Given the description of an element on the screen output the (x, y) to click on. 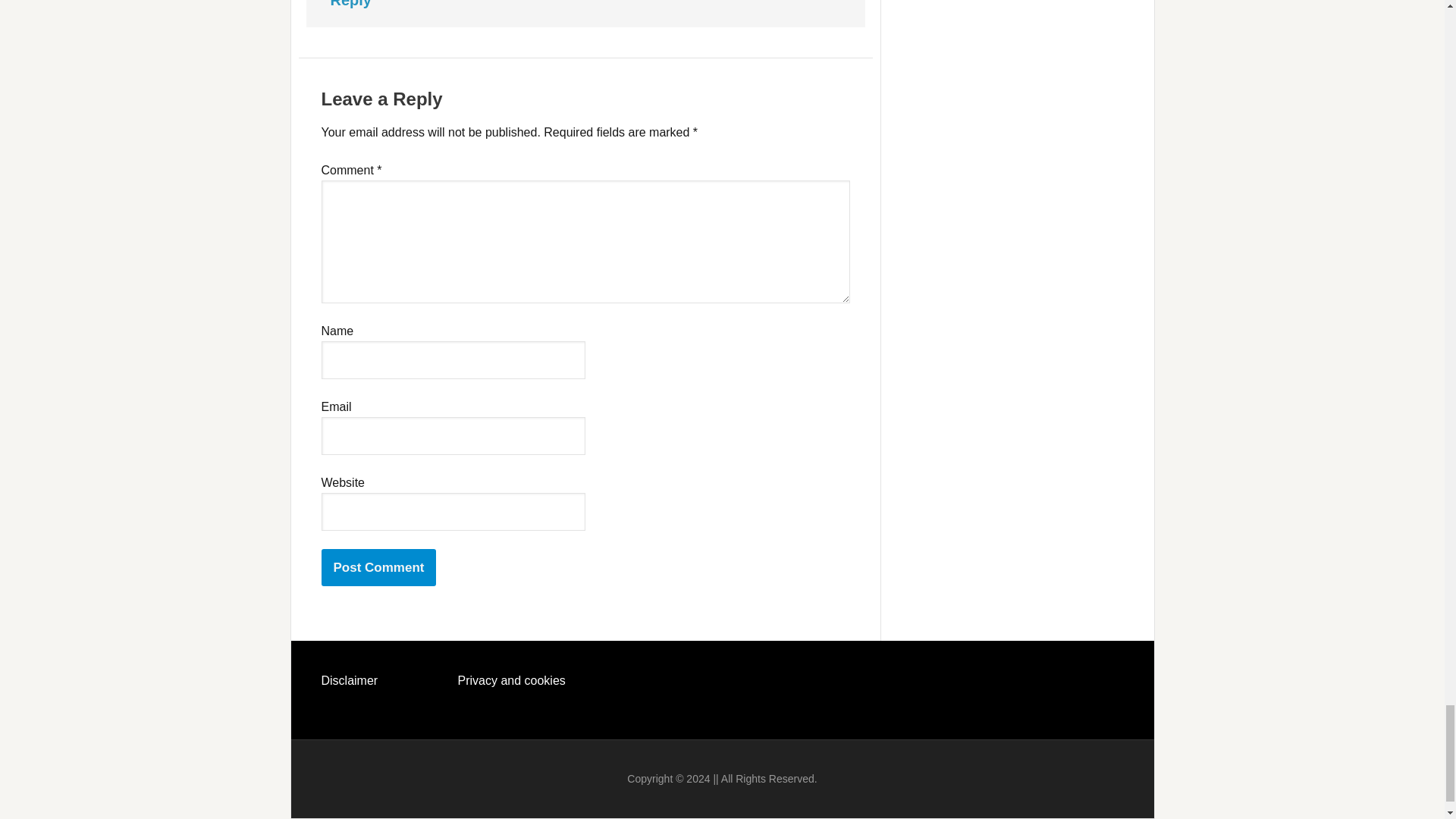
Post Comment (378, 567)
